Given the description of an element on the screen output the (x, y) to click on. 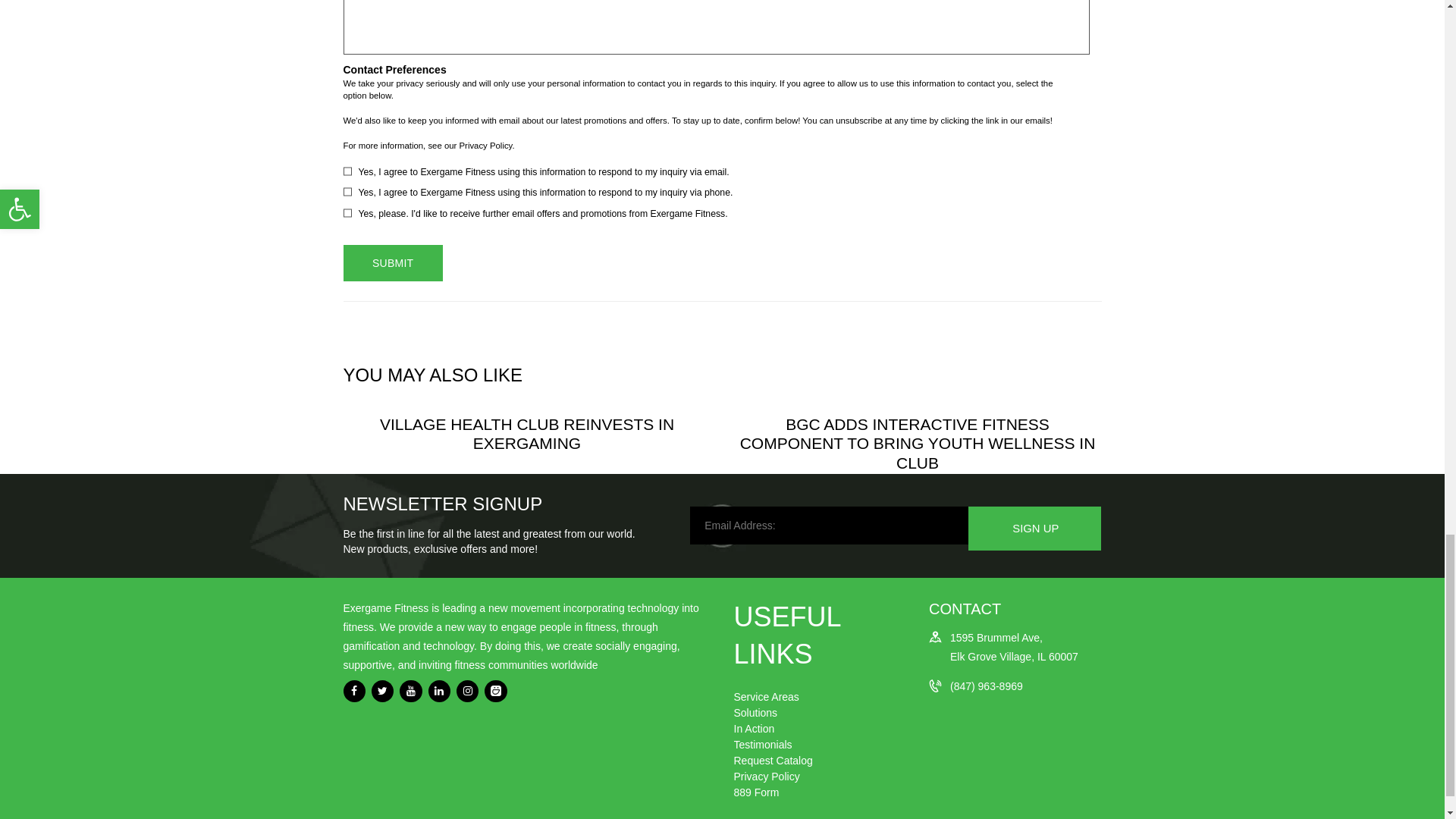
Sign up (1034, 527)
Submit (392, 262)
